Given the description of an element on the screen output the (x, y) to click on. 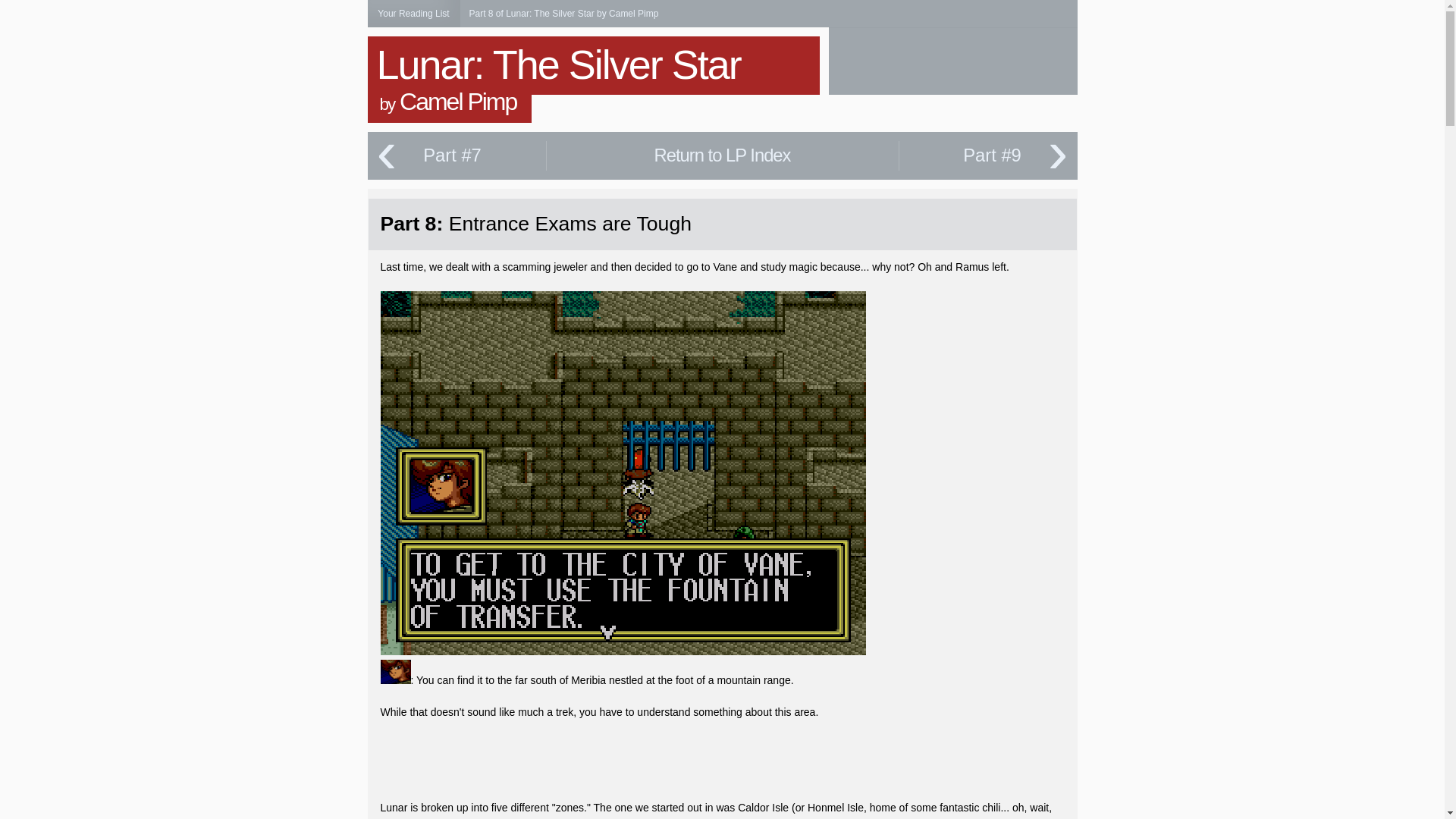
Part 8 of Lunar: The Silver Star by Camel Pimp (563, 13)
Click to expand and view your full reading list (413, 13)
Camel Pimp (457, 101)
